Given the description of an element on the screen output the (x, y) to click on. 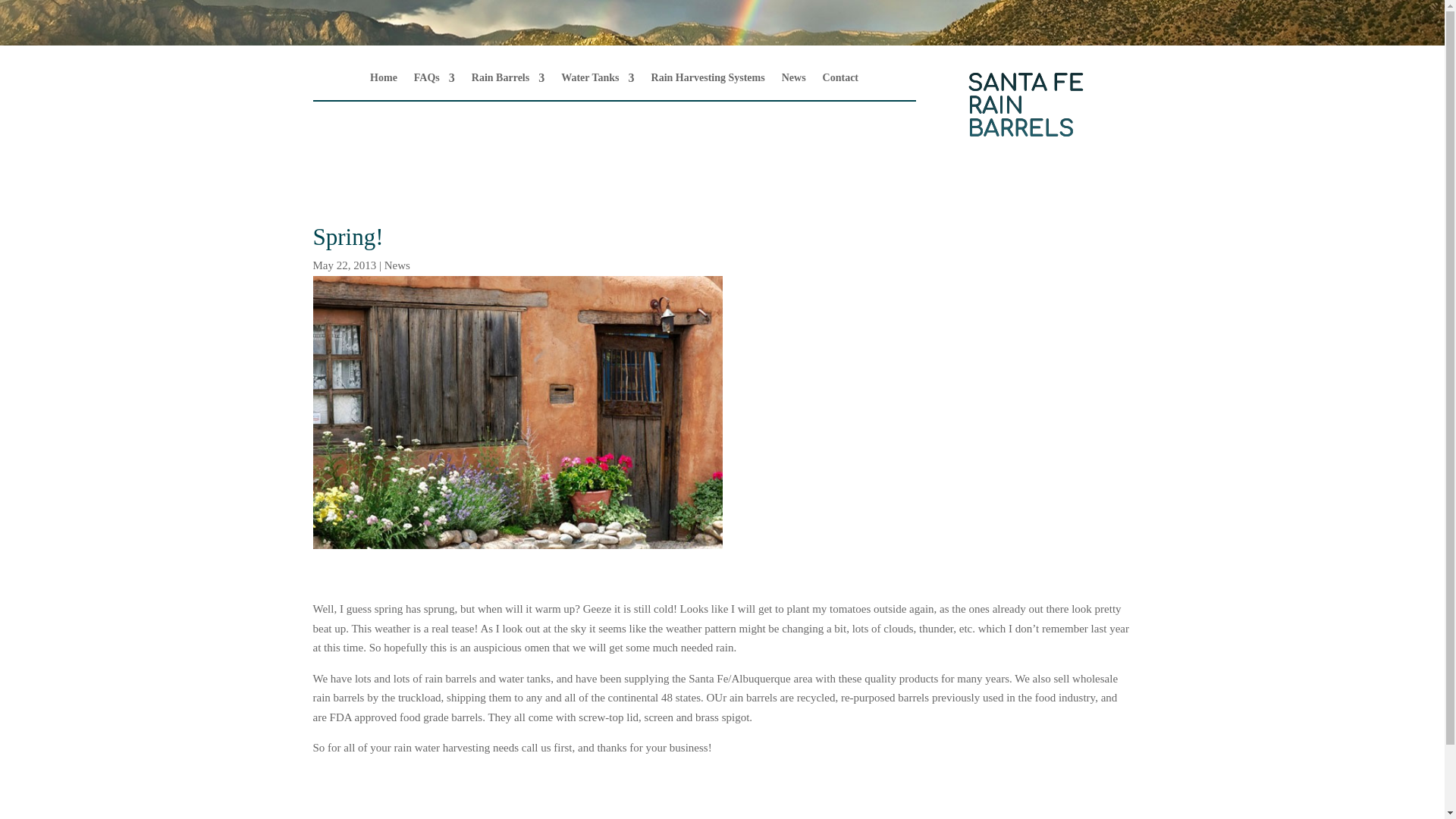
Home (383, 80)
Rain Barrels (507, 80)
FAQs (433, 80)
JElogo (1025, 104)
News (793, 80)
Contact (840, 80)
News (397, 265)
Rain Harvesting Systems (707, 80)
Adobe Sprintime Flowers (517, 412)
Water Tanks (596, 80)
